Given the description of an element on the screen output the (x, y) to click on. 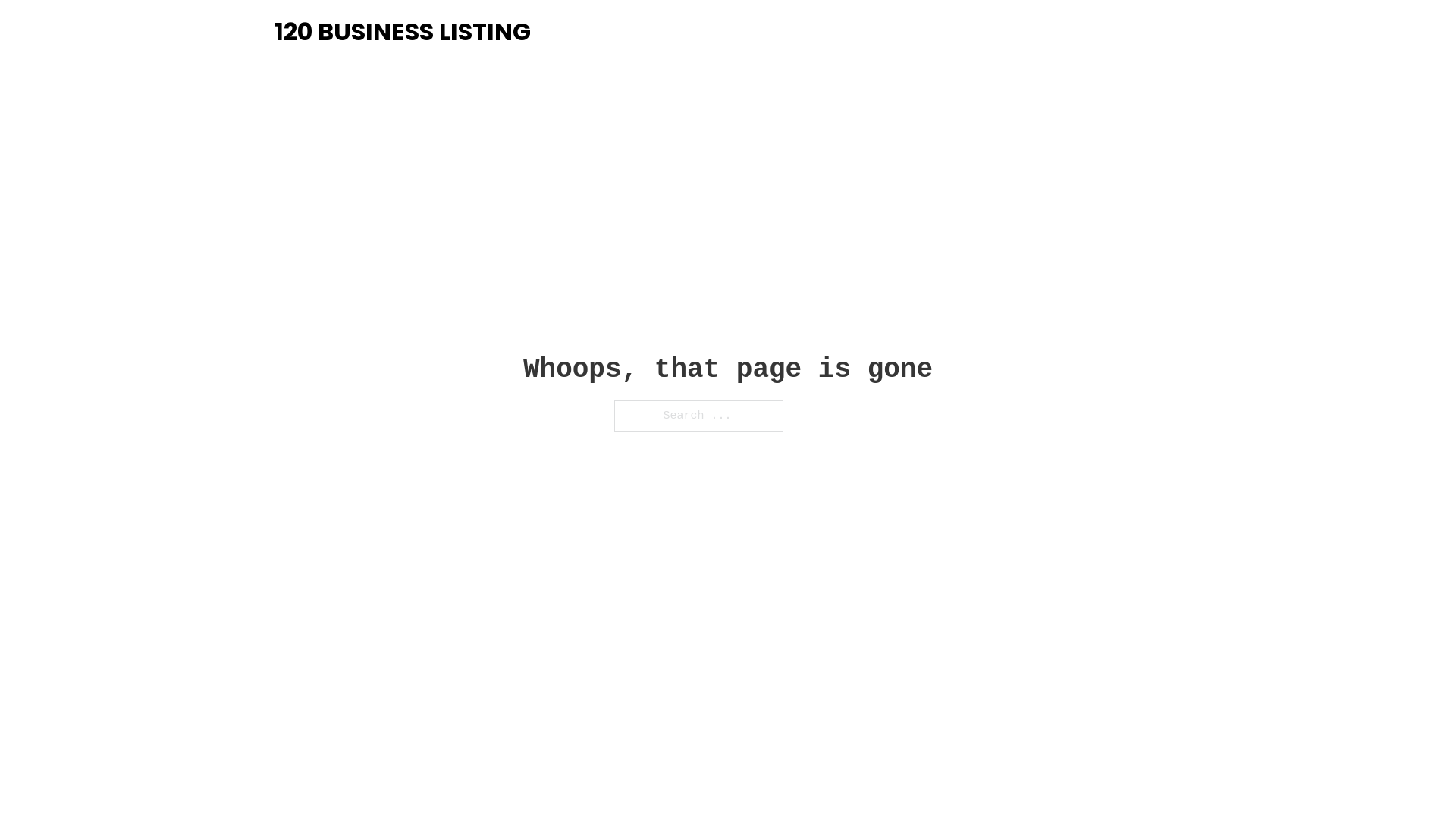
120 BUSINESS LISTING Element type: text (402, 31)
